Given the description of an element on the screen output the (x, y) to click on. 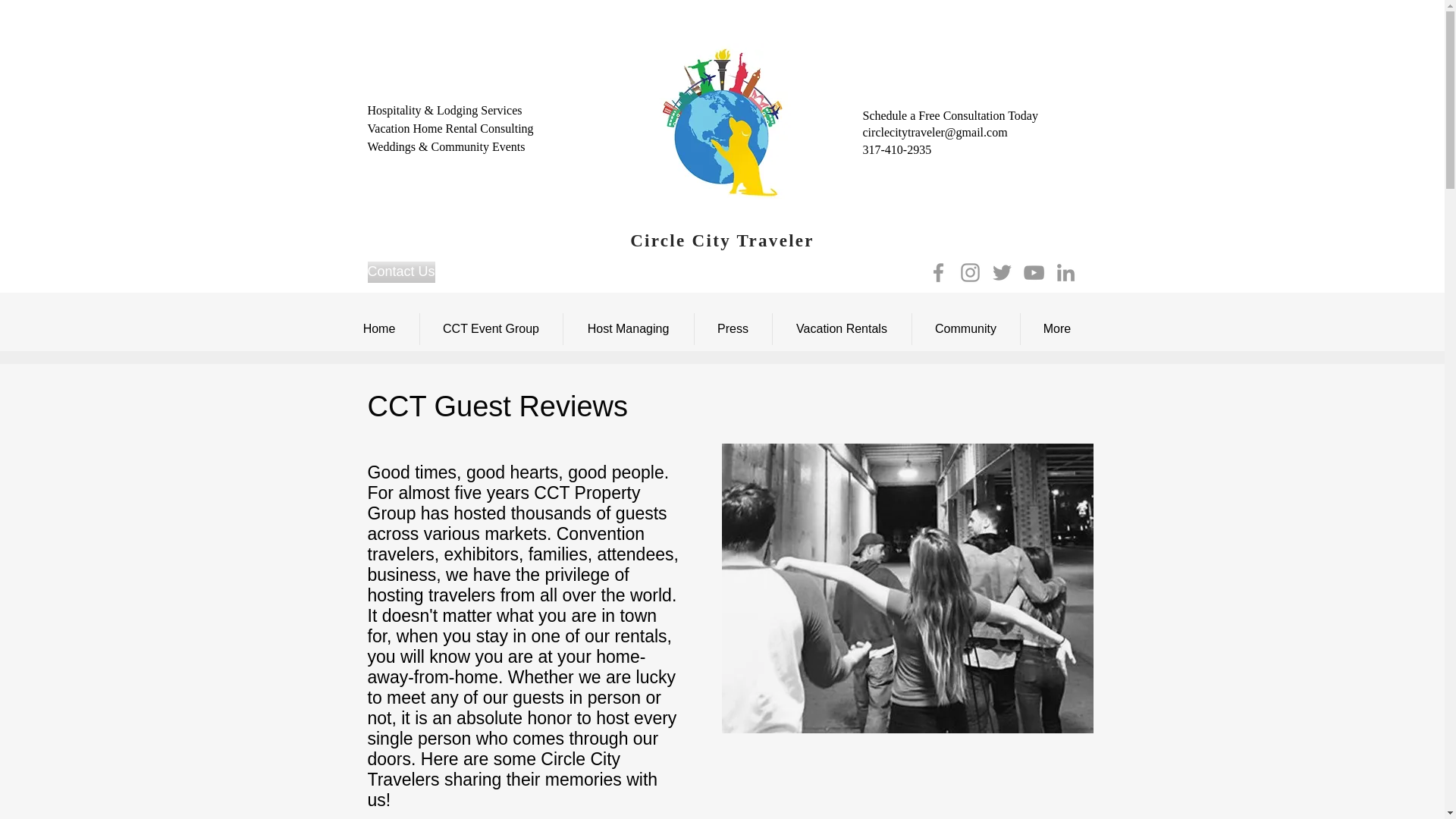
Home (379, 328)
Vacation Rentals (841, 328)
Host Managing (627, 328)
CCT Event Group (491, 328)
Community (965, 328)
Contact Us (399, 271)
Press (732, 328)
